Given the description of an element on the screen output the (x, y) to click on. 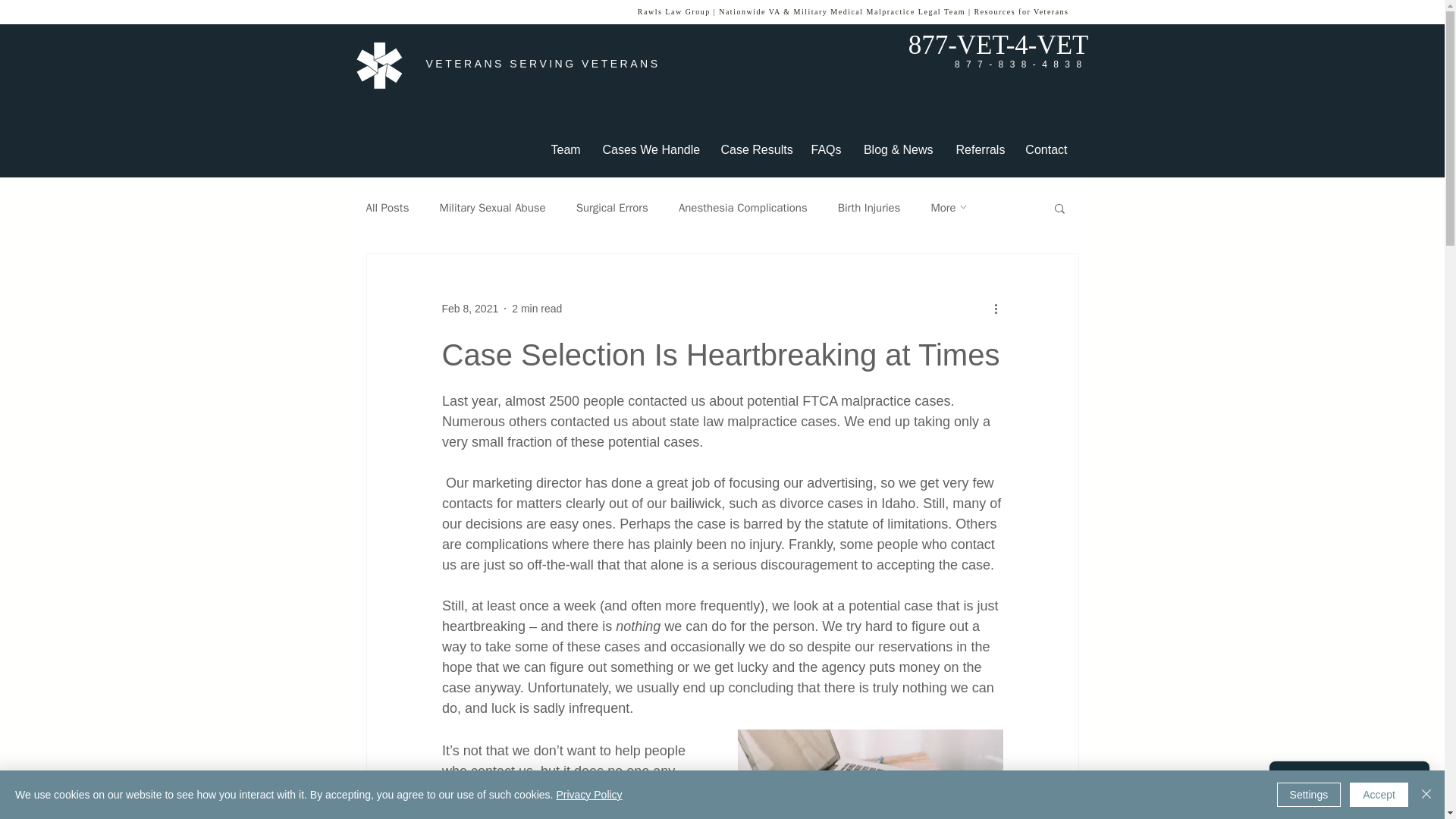
877-838-4838 (1021, 63)
Military Sexual Abuse (491, 206)
All Posts (387, 206)
Surgical Errors (611, 206)
VETERANS SERVING VETERANS (543, 63)
Birth Injuries (869, 206)
FAQs (825, 149)
877-VET-4-VET (998, 44)
Team (565, 149)
Anesthesia Complications (743, 206)
